Given the description of an element on the screen output the (x, y) to click on. 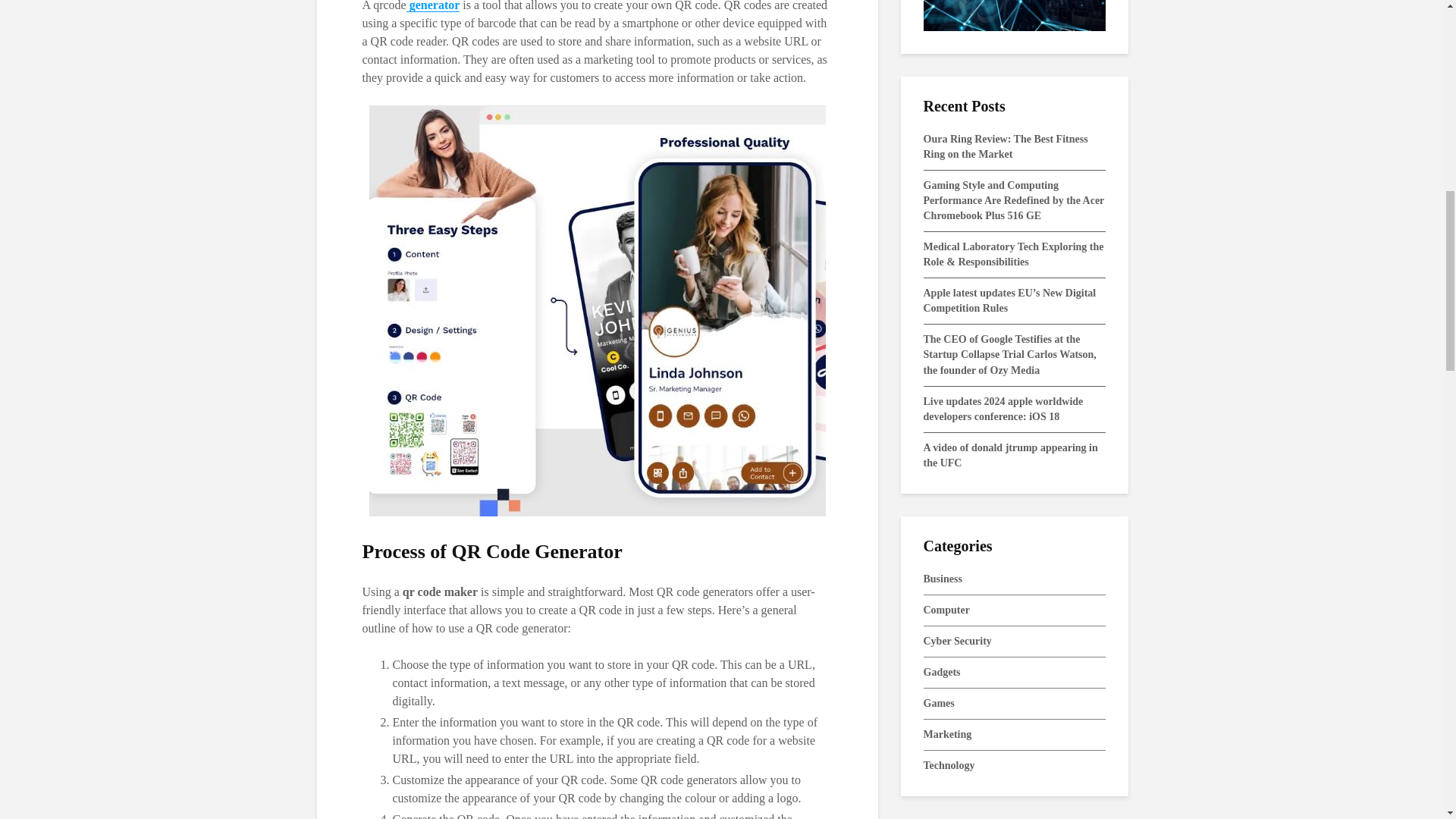
generator (433, 6)
Banner (1014, 15)
Oura Ring Review: The Best Fitness Ring on the Market (1005, 146)
